Given the description of an element on the screen output the (x, y) to click on. 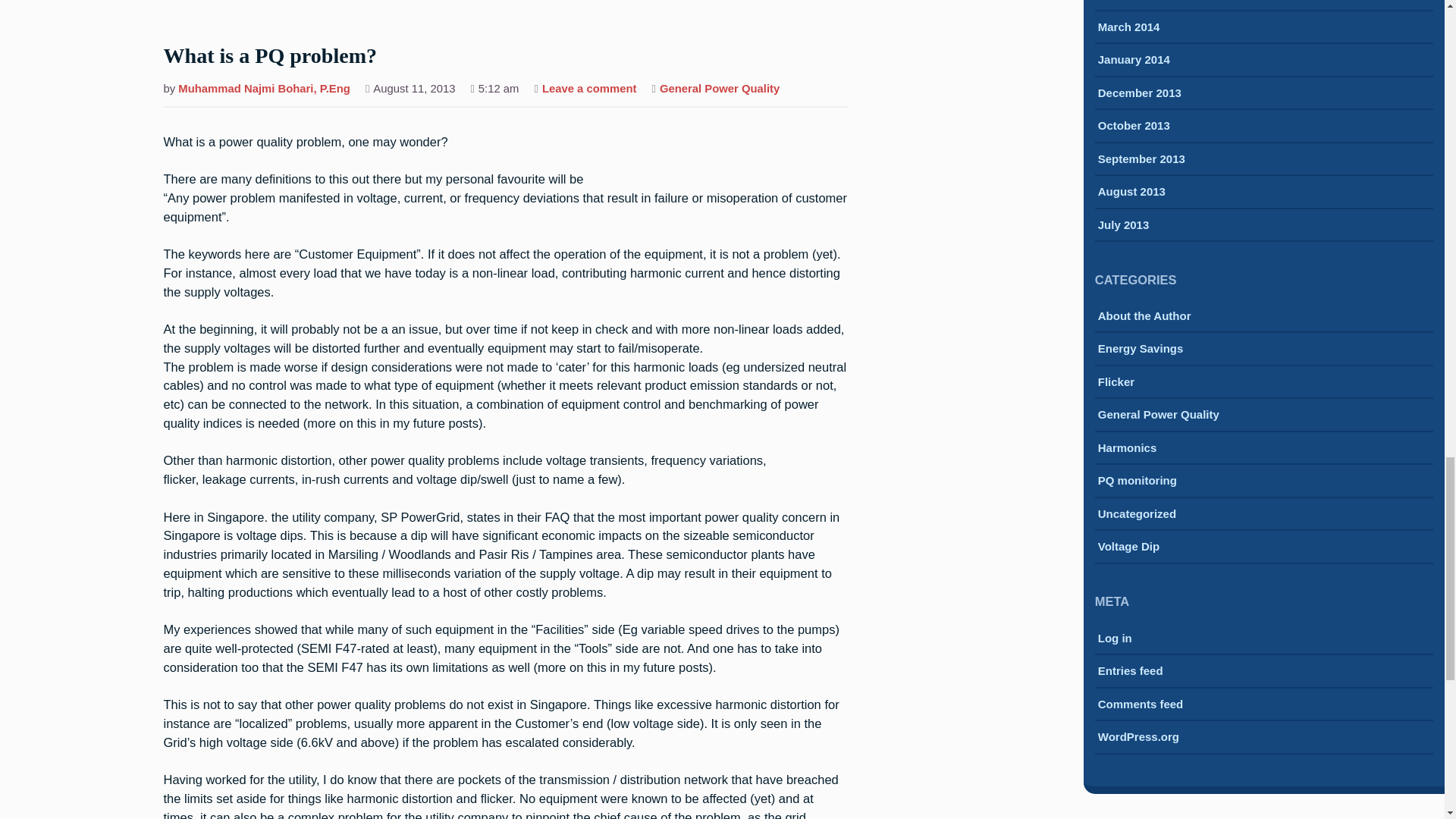
Muhammad Najmi Bohari, P.Eng (589, 89)
General Power Quality (263, 89)
What is a PQ problem? (718, 89)
Posts by Muhammad Najmi Bohari, P.Eng (270, 57)
